Given the description of an element on the screen output the (x, y) to click on. 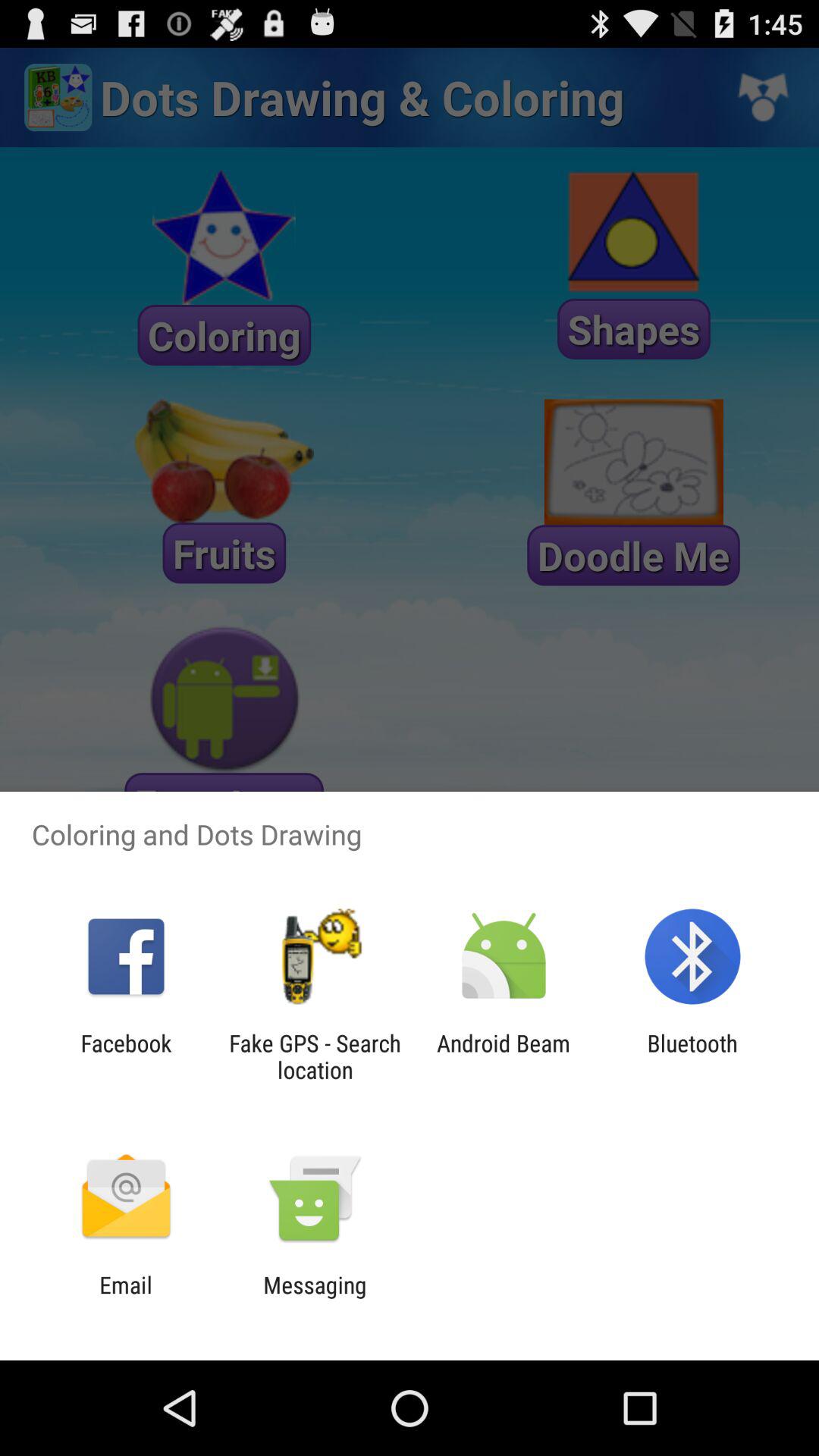
choose icon to the right of fake gps search icon (503, 1056)
